Given the description of an element on the screen output the (x, y) to click on. 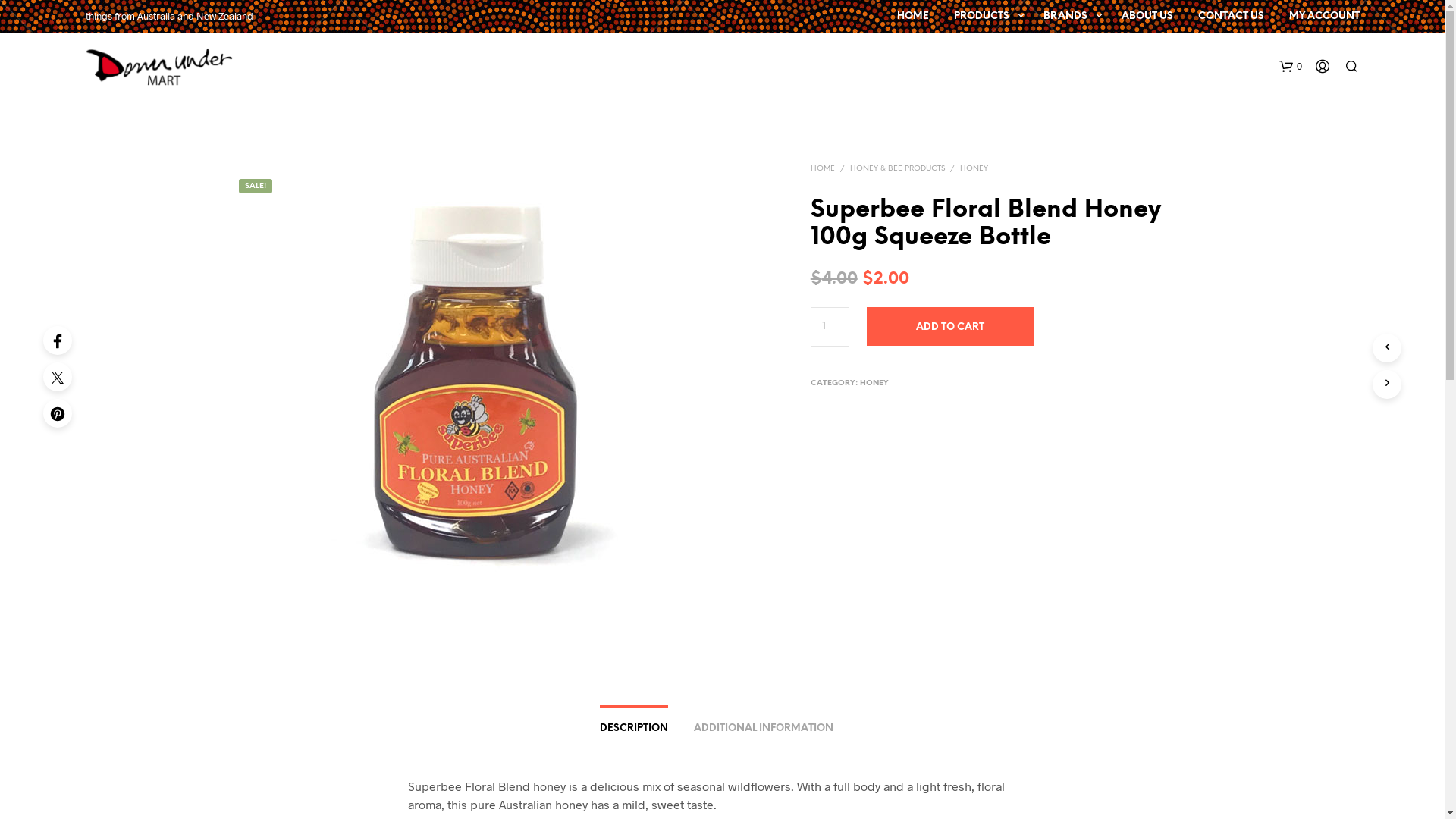
DESCRIPTION Element type: text (633, 723)
MY ACCOUNT Element type: text (1323, 16)
SB-FLB-100 Element type: hover (473, 392)
HONEY Element type: text (974, 168)
HOME Element type: text (822, 168)
PRODUCTS Element type: text (980, 16)
Facebook Element type: hover (57, 340)
CONTACT US Element type: text (1230, 16)
BRANDS Element type: text (1064, 16)
HONEY Element type: text (873, 383)
ABOUT US Element type: text (1147, 16)
Pinterest Element type: hover (57, 412)
HOME Element type: text (912, 16)
ADDITIONAL INFORMATION Element type: text (763, 723)
ADD TO CART Element type: text (949, 326)
0 Element type: text (1289, 66)
HONEY & BEE PRODUCTS Element type: text (897, 168)
Twitter Element type: hover (57, 376)
